Given the description of an element on the screen output the (x, y) to click on. 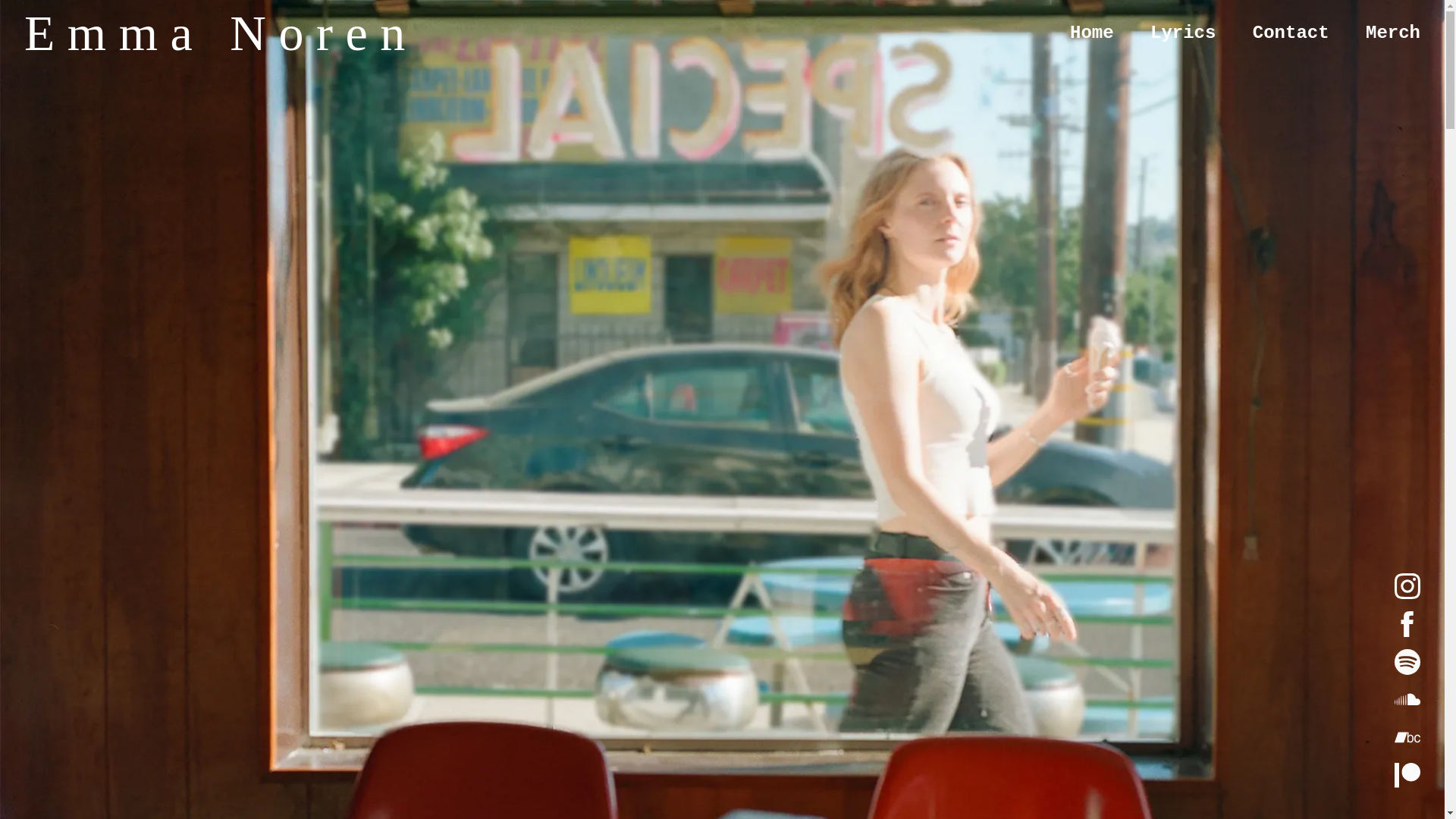
Emma Noren (220, 45)
Lyrics (1182, 33)
Merch (1393, 33)
Home (1091, 33)
Contact (1290, 33)
